Given the description of an element on the screen output the (x, y) to click on. 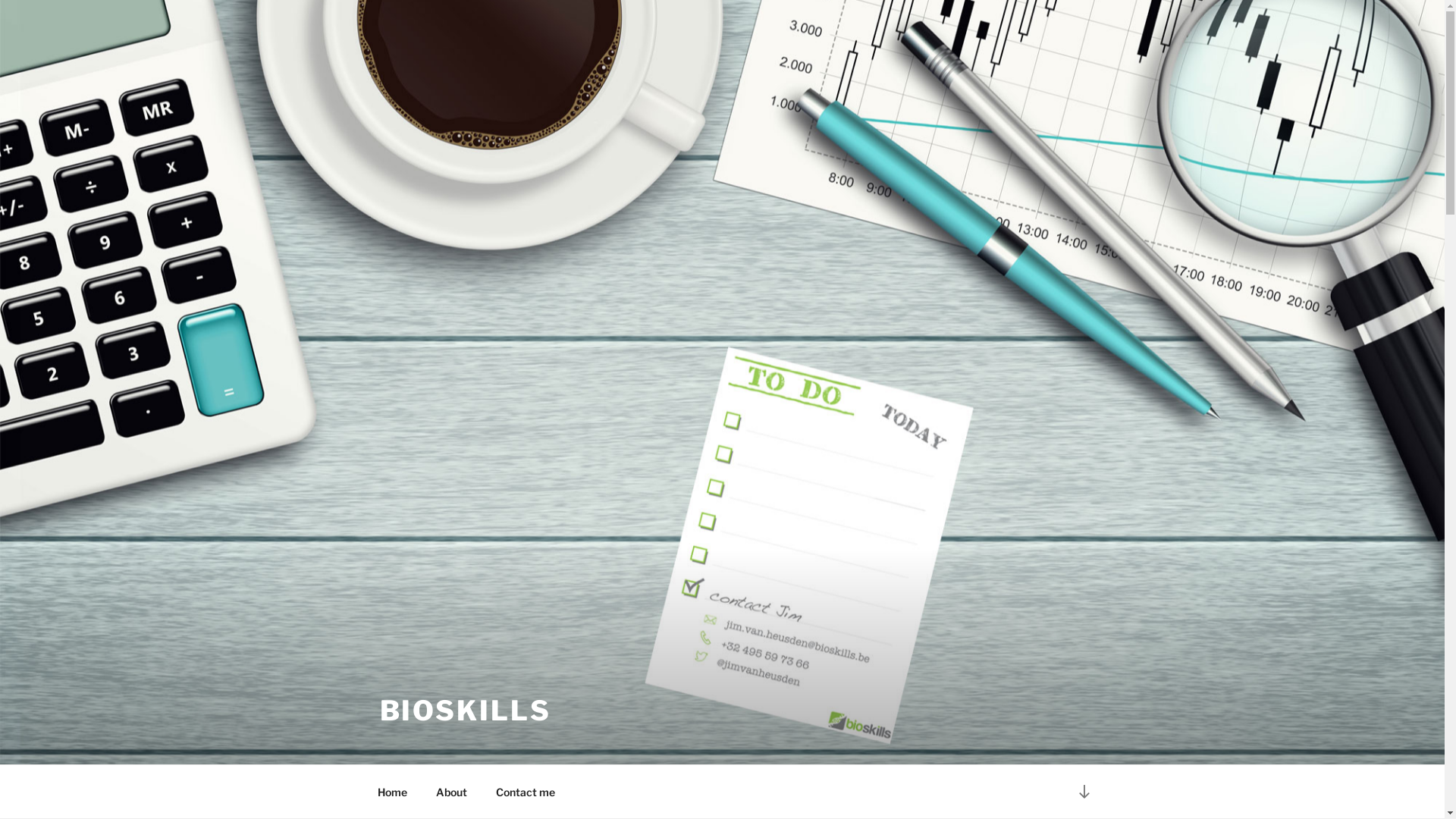
Contact me Element type: text (524, 791)
About Element type: text (451, 791)
Home Element type: text (392, 791)
Skip to content Element type: text (0, 0)
BIOSKILLS Element type: text (464, 710)
Scroll down to content Element type: text (1083, 790)
